Given the description of an element on the screen output the (x, y) to click on. 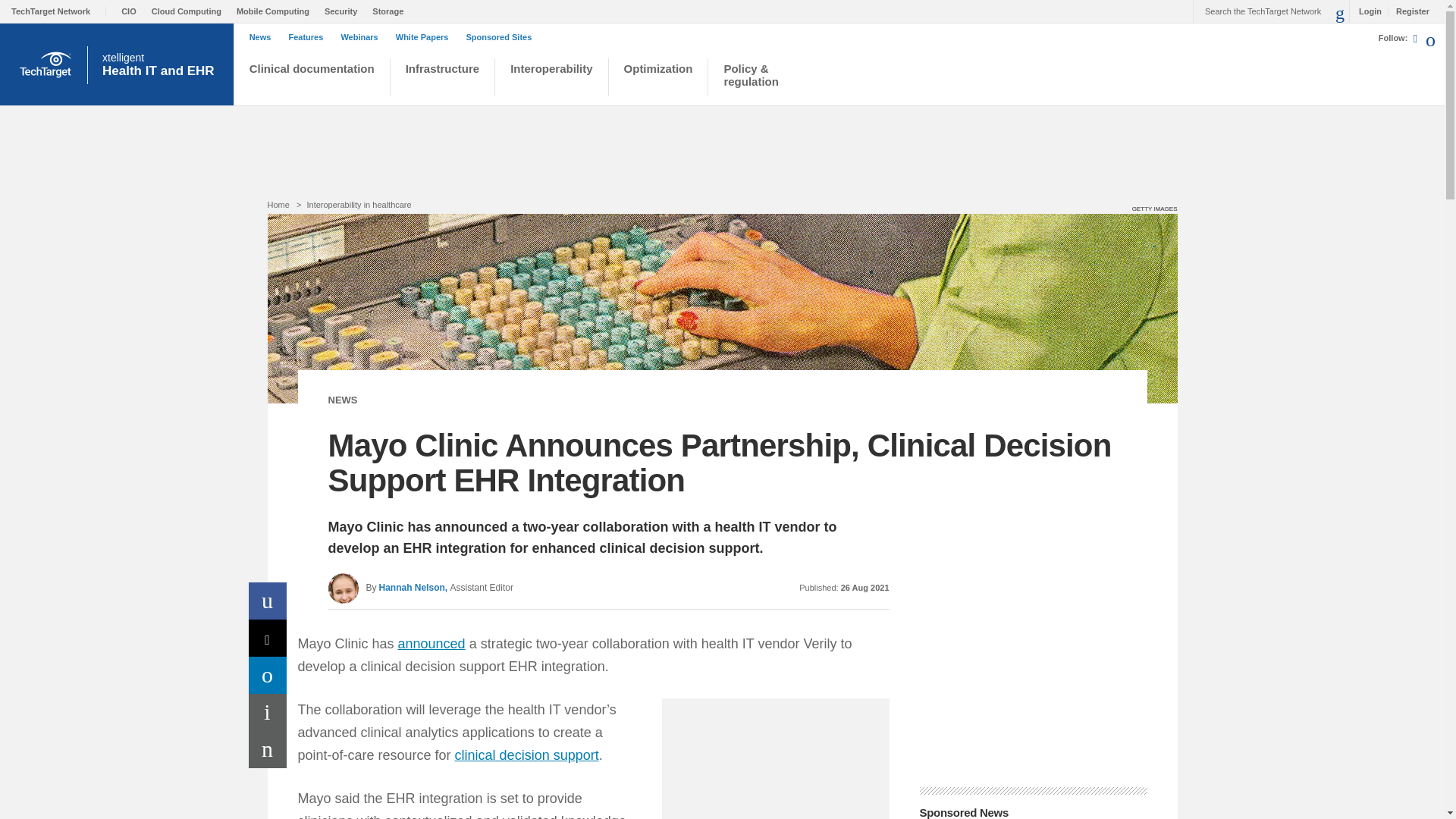
Home (277, 204)
announced (431, 643)
Hannah Nelson, (413, 587)
Sponsored Sites (501, 36)
TechTarget Network (58, 10)
Infrastructure (443, 79)
Mobile Computing (276, 10)
NEWS (341, 399)
Cloud Computing (189, 10)
Share on Facebook (267, 600)
